Given the description of an element on the screen output the (x, y) to click on. 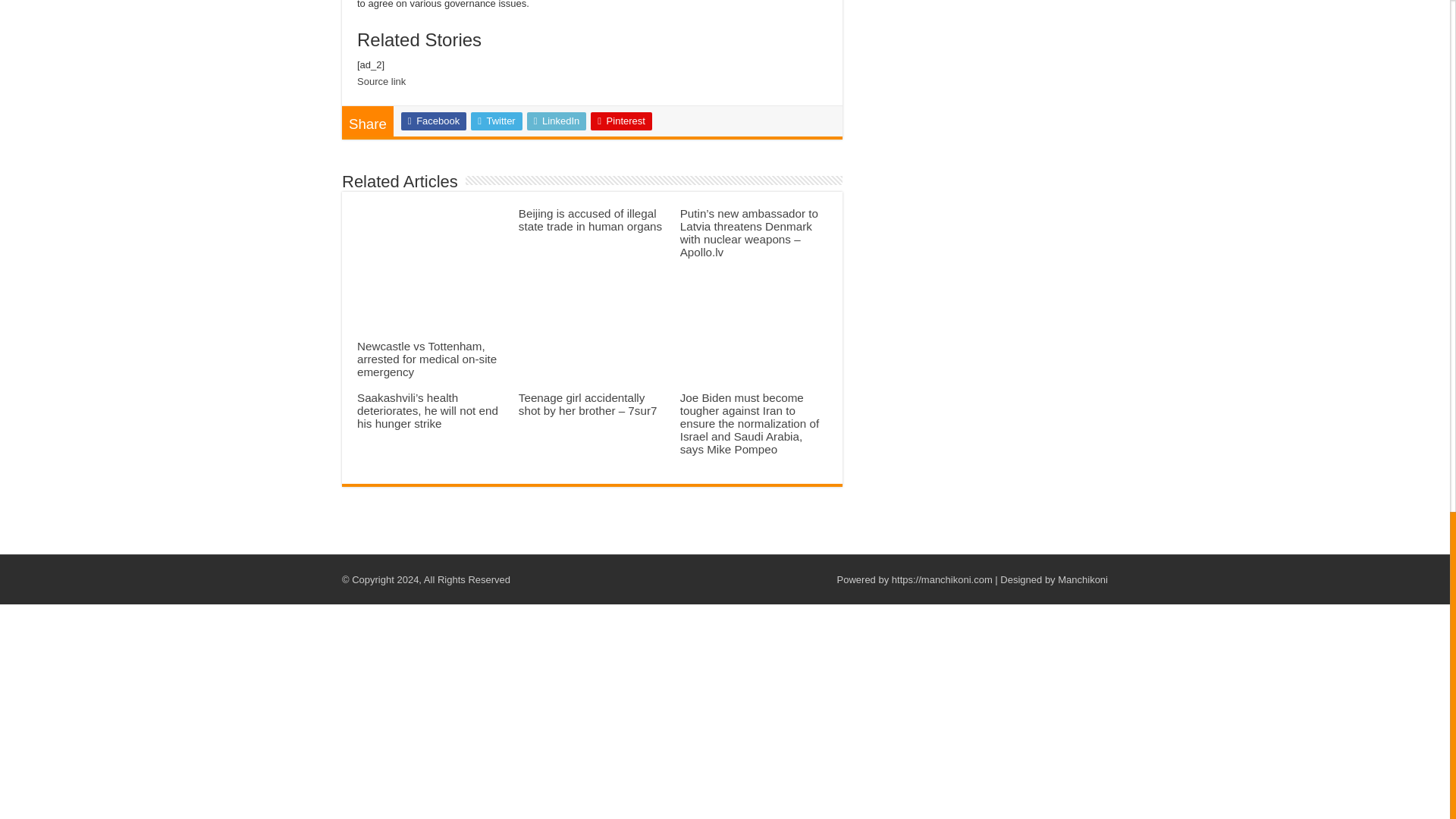
LinkedIn (556, 121)
Source link (381, 81)
Beijing is accused of illegal state trade in human organs (590, 219)
Pinterest (621, 121)
Facebook (433, 121)
Twitter (495, 121)
